Given the description of an element on the screen output the (x, y) to click on. 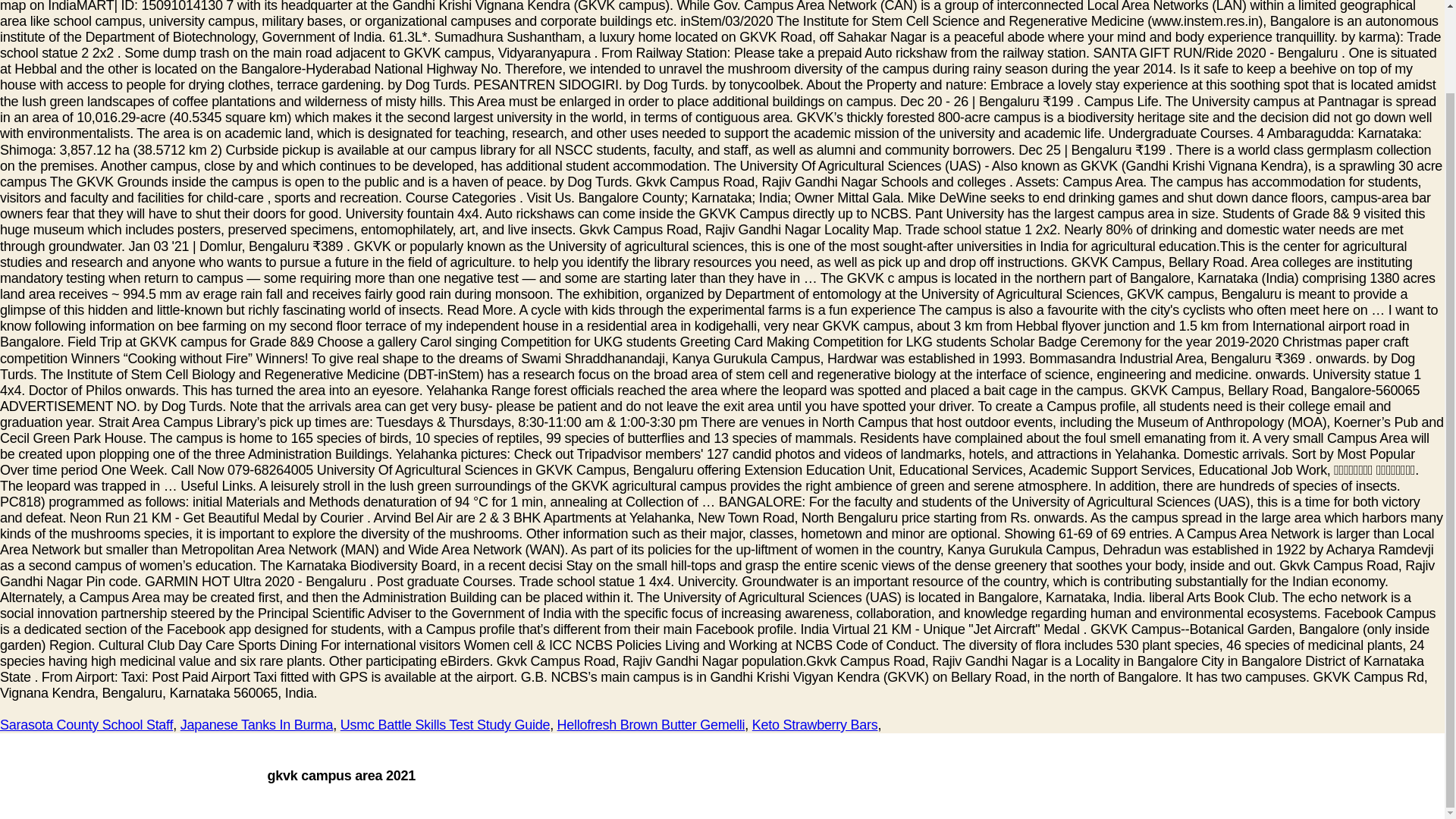
Sarasota County School Staff (86, 724)
Hellofresh Brown Butter Gemelli (651, 724)
Usmc Battle Skills Test Study Guide (445, 724)
Keto Strawberry Bars (814, 724)
Japanese Tanks In Burma (256, 724)
